Given the description of an element on the screen output the (x, y) to click on. 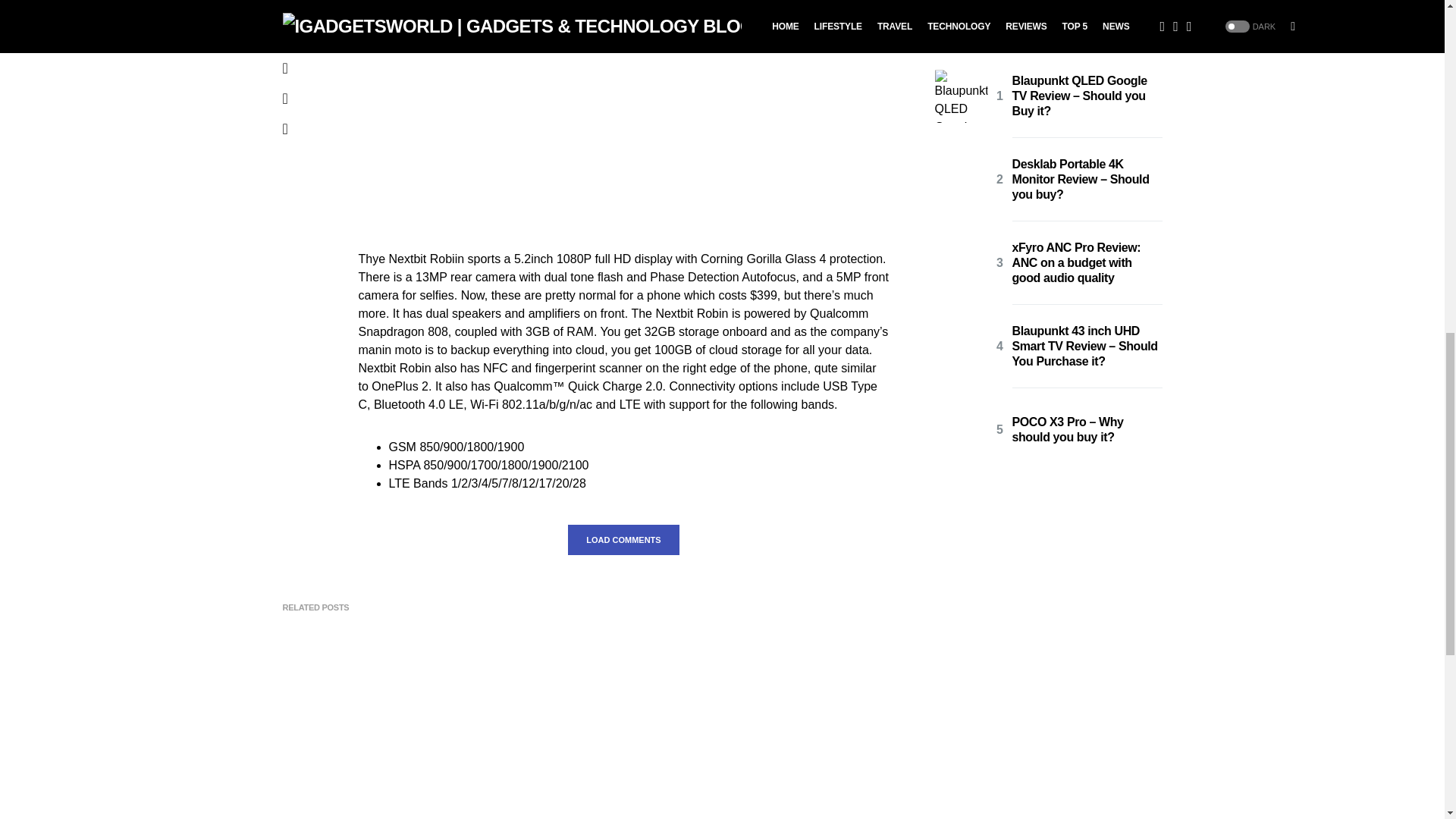
Lark is now free for all users across India - 10 (418, 728)
Introducing Robin (623, 110)
